Given the description of an element on the screen output the (x, y) to click on. 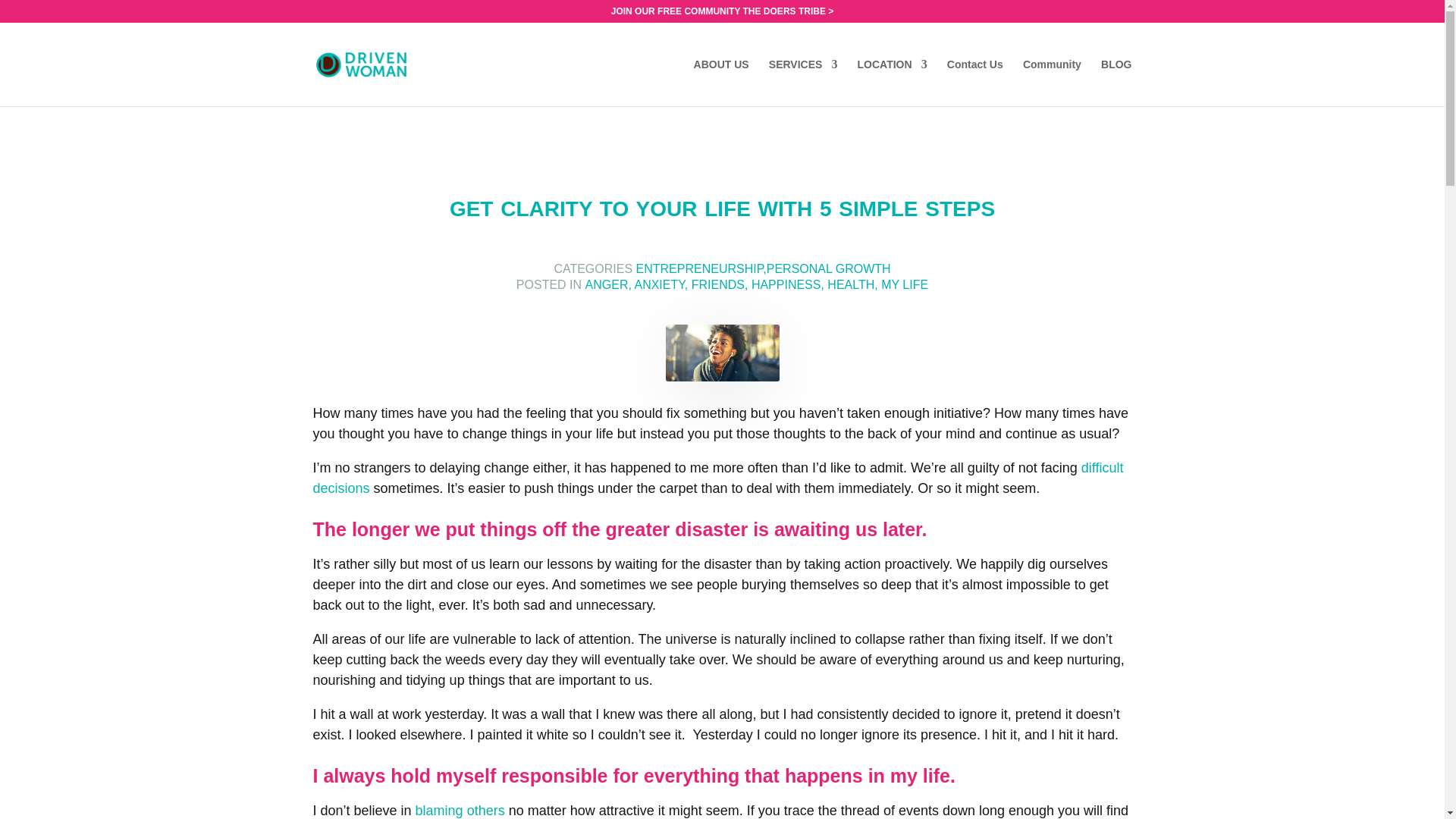
LOCATION (892, 82)
ANXIETY (658, 284)
difficult decisions (717, 478)
ABOUT US (721, 82)
11 Ways To Make Hard Decisions When You're Feeling Stuck (717, 478)
FRIENDS (717, 284)
PERSONAL GROWTH (829, 268)
ENTREPRENEURSHIP (699, 268)
MY LIFE (904, 284)
Community (1052, 82)
HAPPINESS (786, 284)
SERVICES (803, 82)
Contact Us (975, 82)
simple-steps-for-clarity.jpg (721, 352)
blaming others (459, 810)
